Given the description of an element on the screen output the (x, y) to click on. 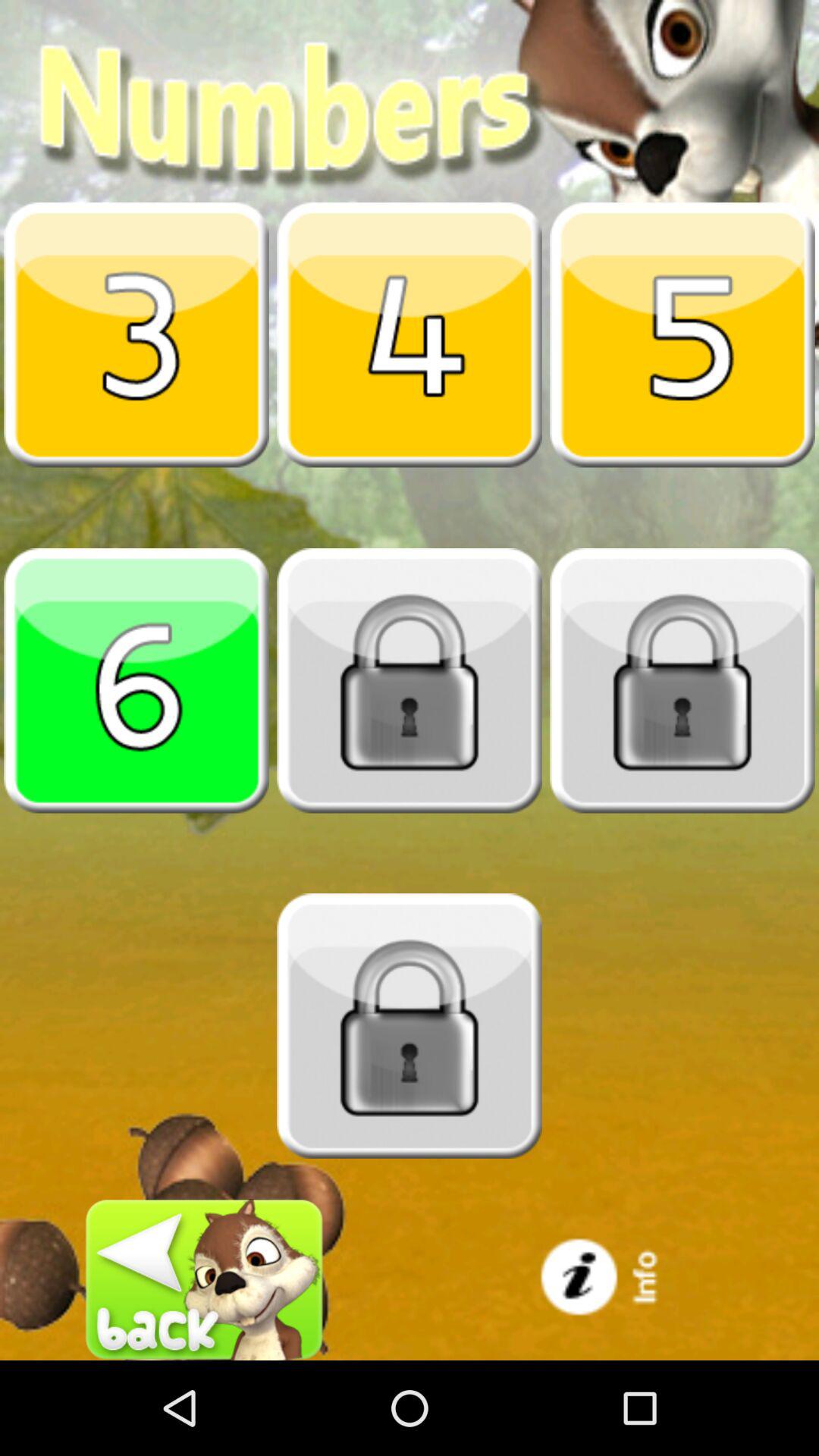
unlock the next number (409, 680)
